Given the description of an element on the screen output the (x, y) to click on. 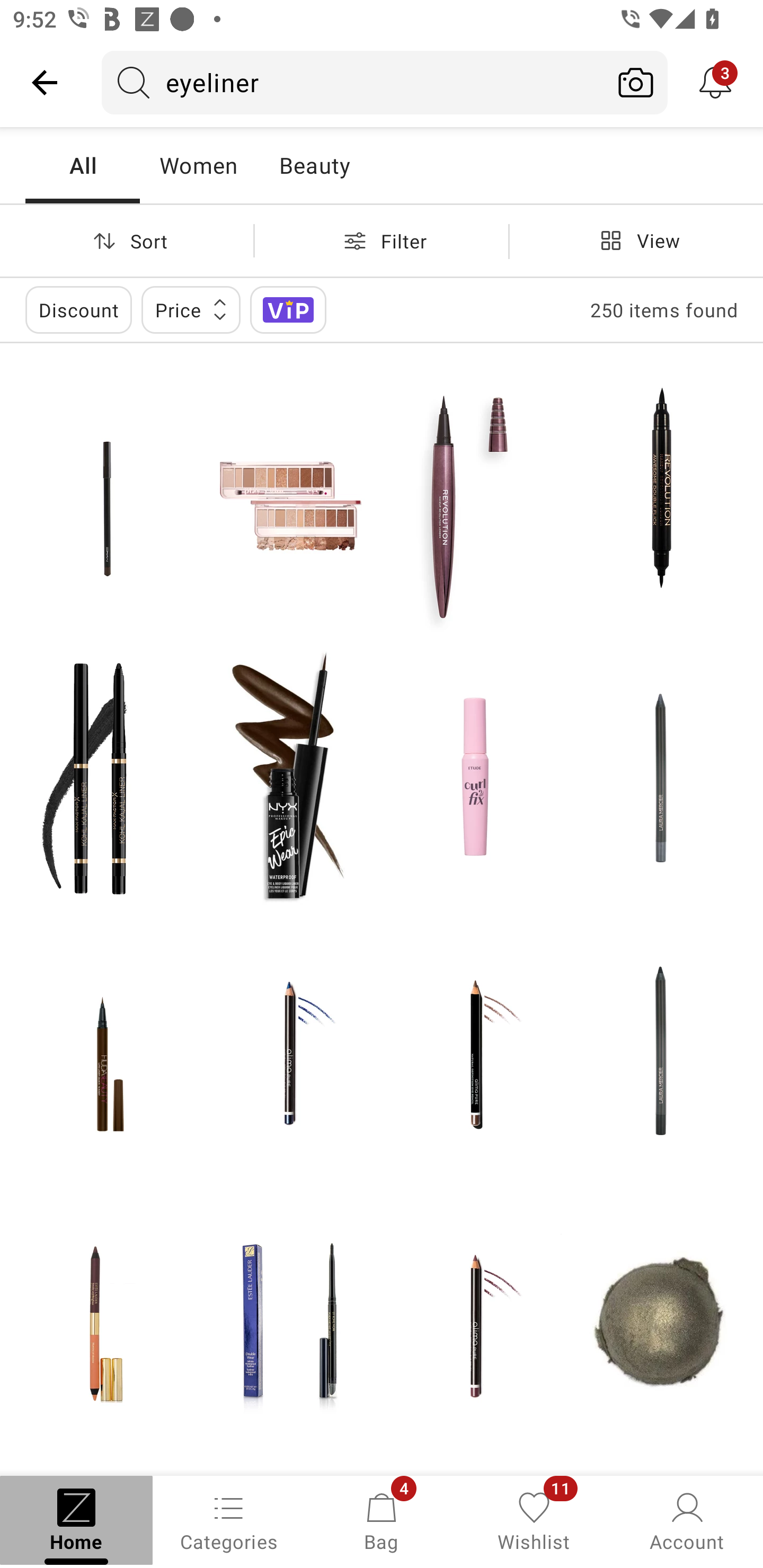
Navigate up (44, 82)
eyeliner (352, 82)
Women (198, 165)
Beauty (314, 165)
Sort (126, 240)
Filter (381, 240)
View (636, 240)
Discount (78, 309)
Price (190, 309)
Categories (228, 1519)
Bag, 4 new notifications Bag (381, 1519)
Wishlist, 11 new notifications Wishlist (533, 1519)
Account (686, 1519)
